Given the description of an element on the screen output the (x, y) to click on. 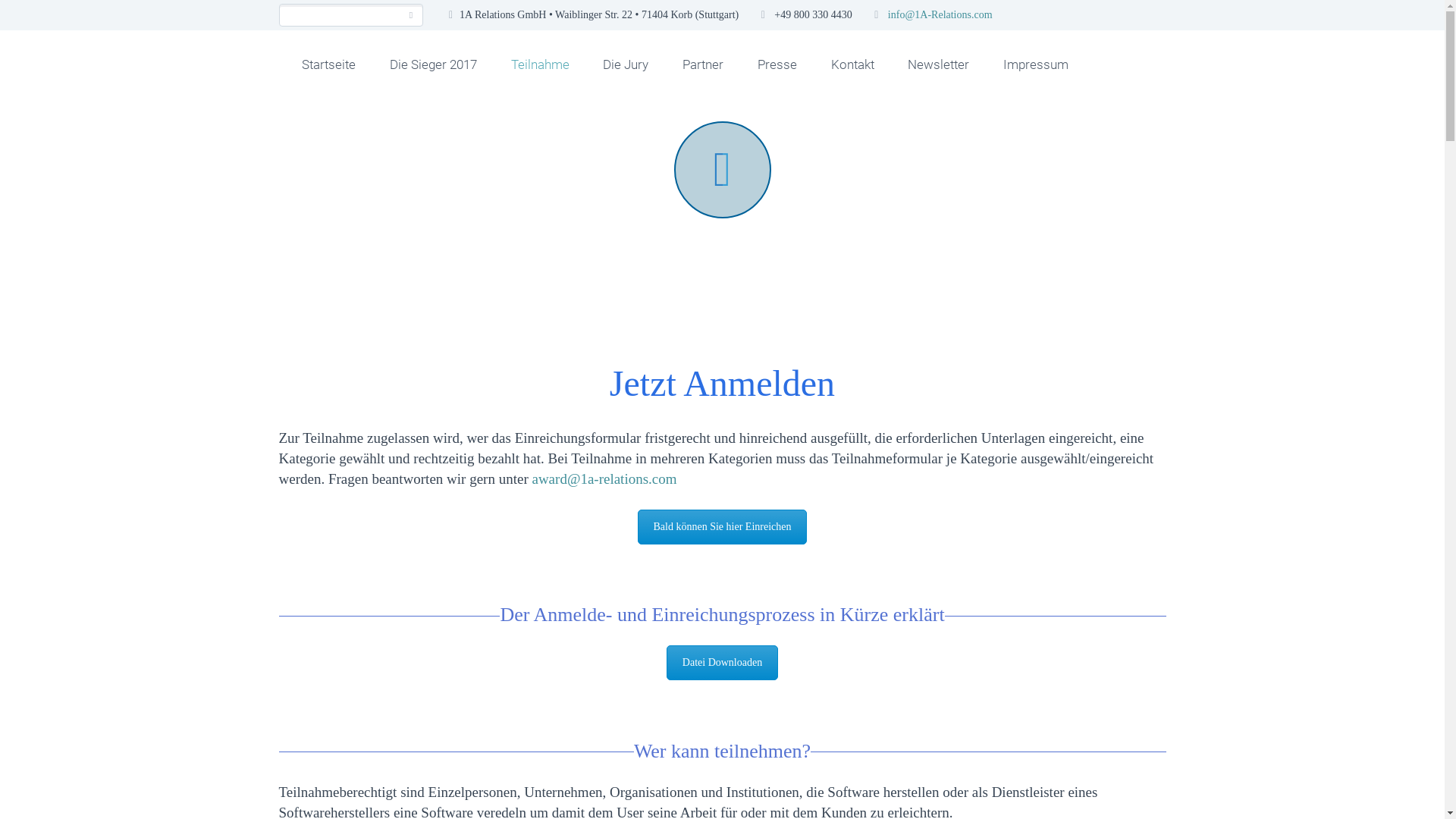
Die Sieger 2017 Element type: text (433, 64)
Partner Element type: text (702, 64)
Impressum Element type: text (1035, 64)
award@1a-relations.com Element type: text (603, 478)
Die Jury Element type: text (625, 64)
Newsletter Element type: text (938, 64)
info@1A-Relations.com Element type: text (940, 14)
Presse Element type: text (777, 64)
Teilnahme Element type: text (539, 64)
Startseite Element type: text (328, 64)
Datei Downloaden Element type: text (722, 662)
Search Element type: text (411, 15)
Kontakt Element type: text (852, 64)
